Given the description of an element on the screen output the (x, y) to click on. 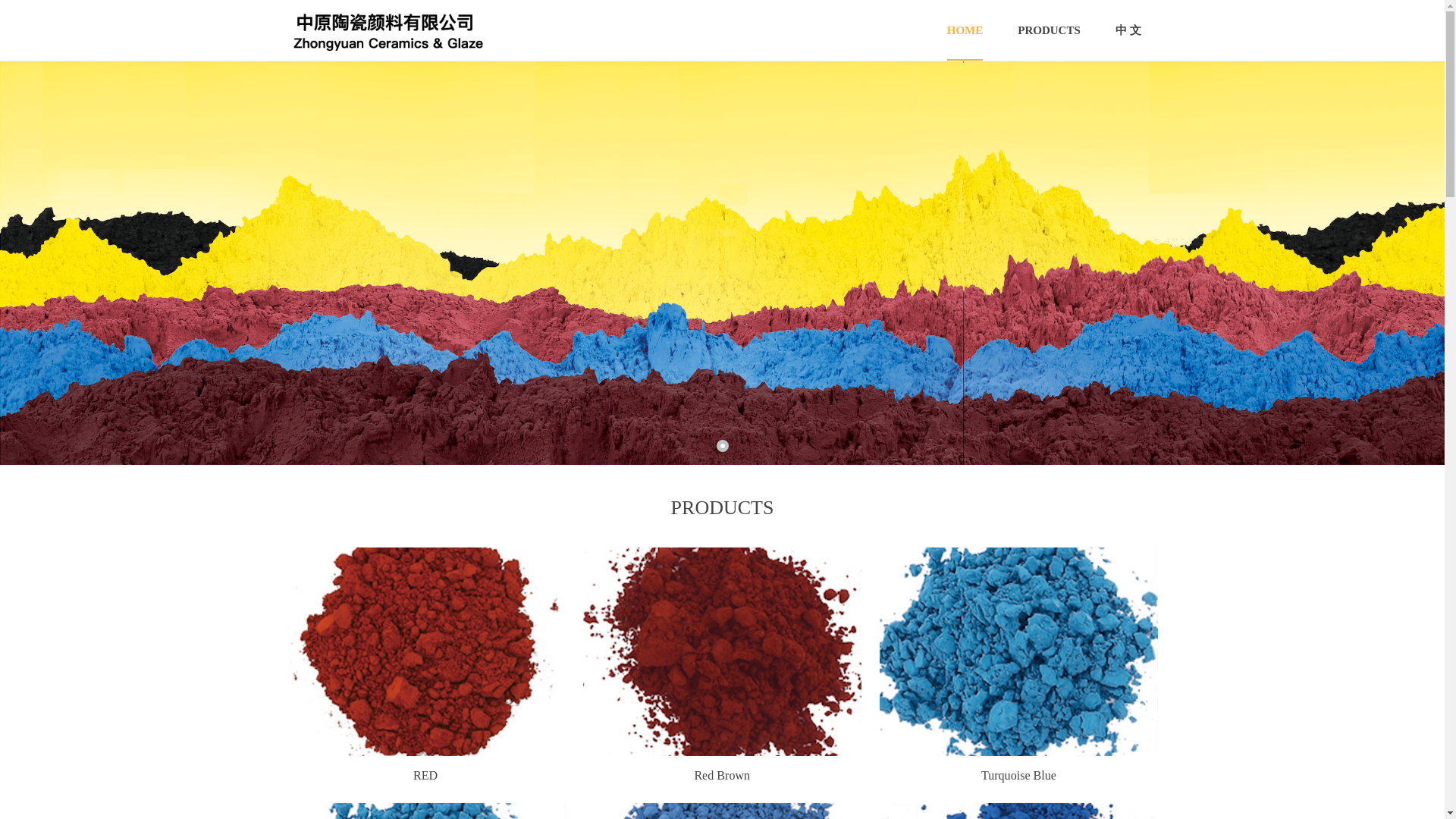
RED (425, 779)
PRODUCTS (1048, 30)
1 (722, 445)
Red Brown (721, 778)
Turquoise Blue (1019, 777)
